Given the description of an element on the screen output the (x, y) to click on. 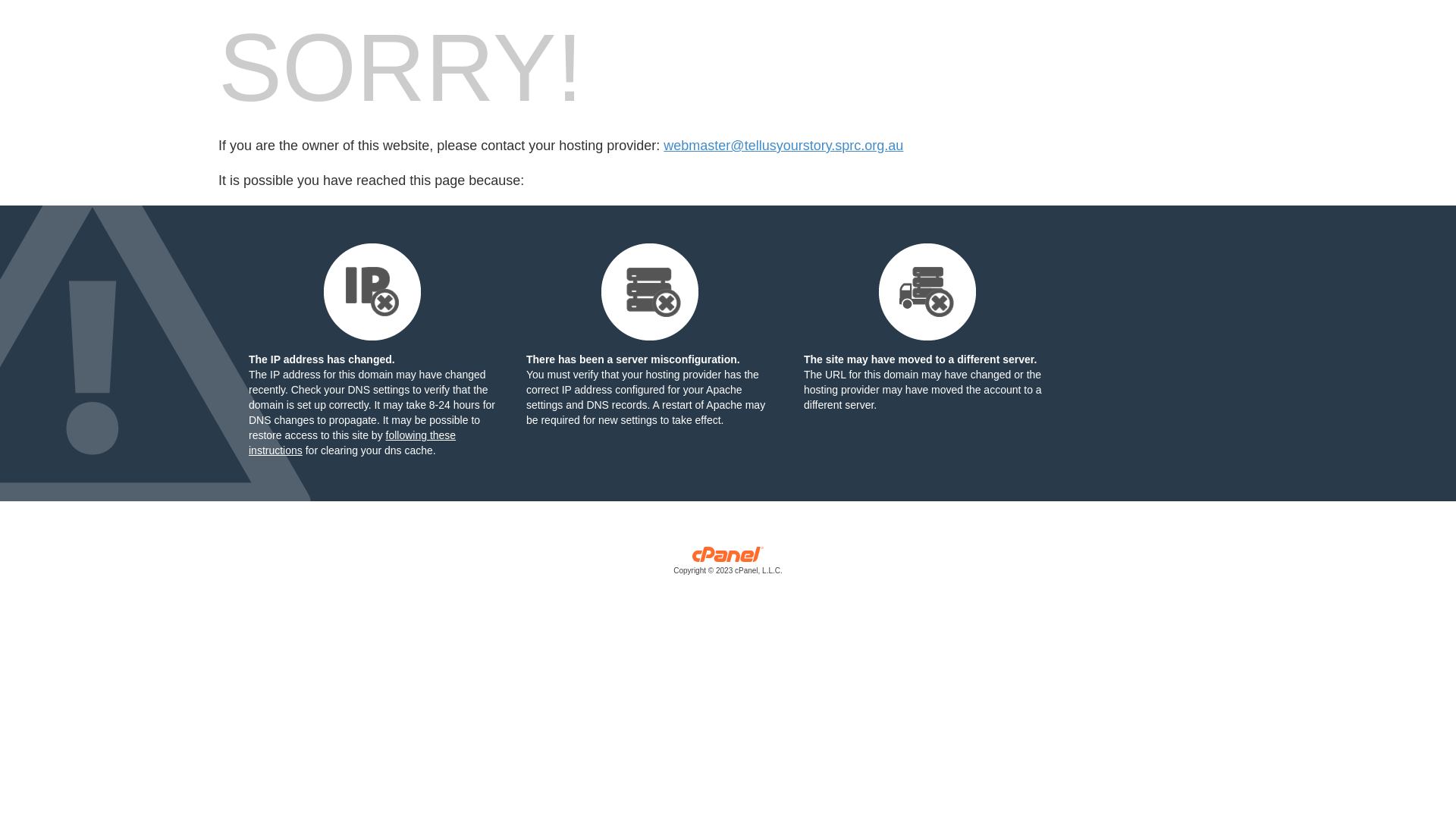
webmaster@tellusyourstory.sprc.org.au Element type: text (783, 145)
following these instructions Element type: text (351, 442)
